Given the description of an element on the screen output the (x, y) to click on. 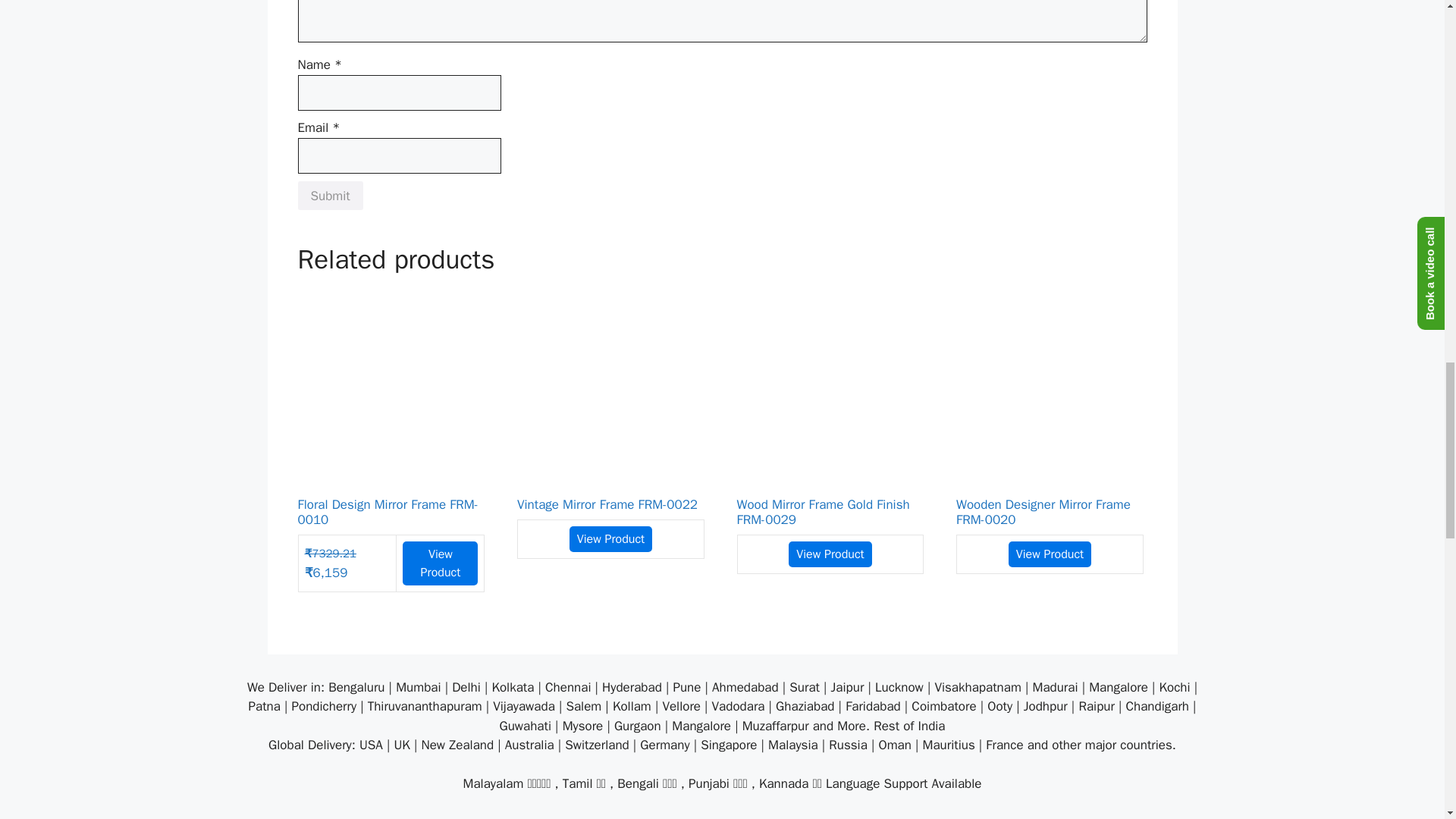
Submit (329, 194)
